Given the description of an element on the screen output the (x, y) to click on. 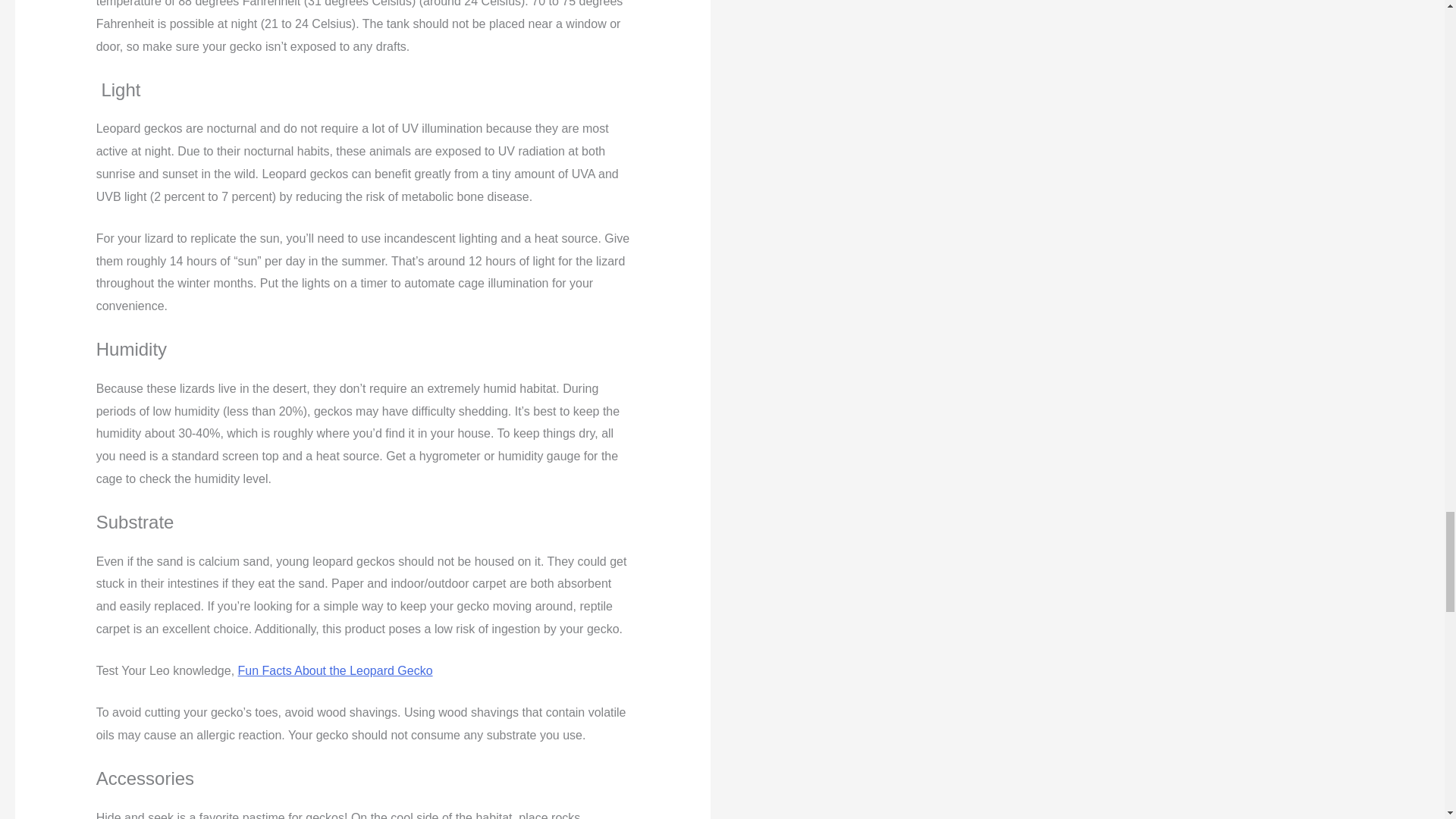
Fun Facts About the Leopard Gecko (335, 670)
